Given the description of an element on the screen output the (x, y) to click on. 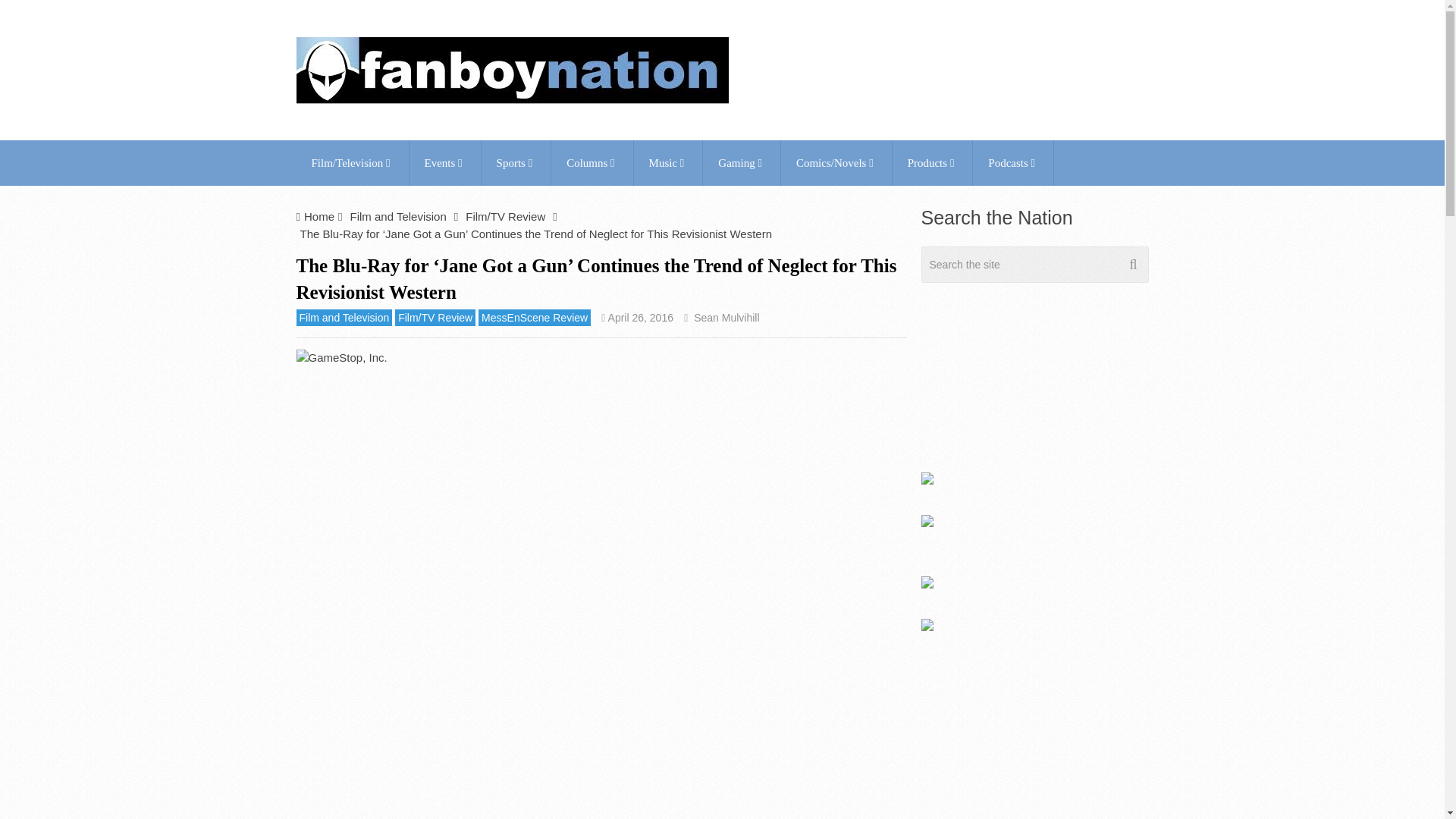
Film and Television (397, 215)
Sean Mulvihill (725, 317)
Gaming (741, 162)
Music (668, 162)
Events (444, 162)
Cons and Expos (444, 162)
Columns (591, 162)
Home (319, 215)
MessEnScene Review (535, 317)
Podcasts (1012, 162)
